Given the description of an element on the screen output the (x, y) to click on. 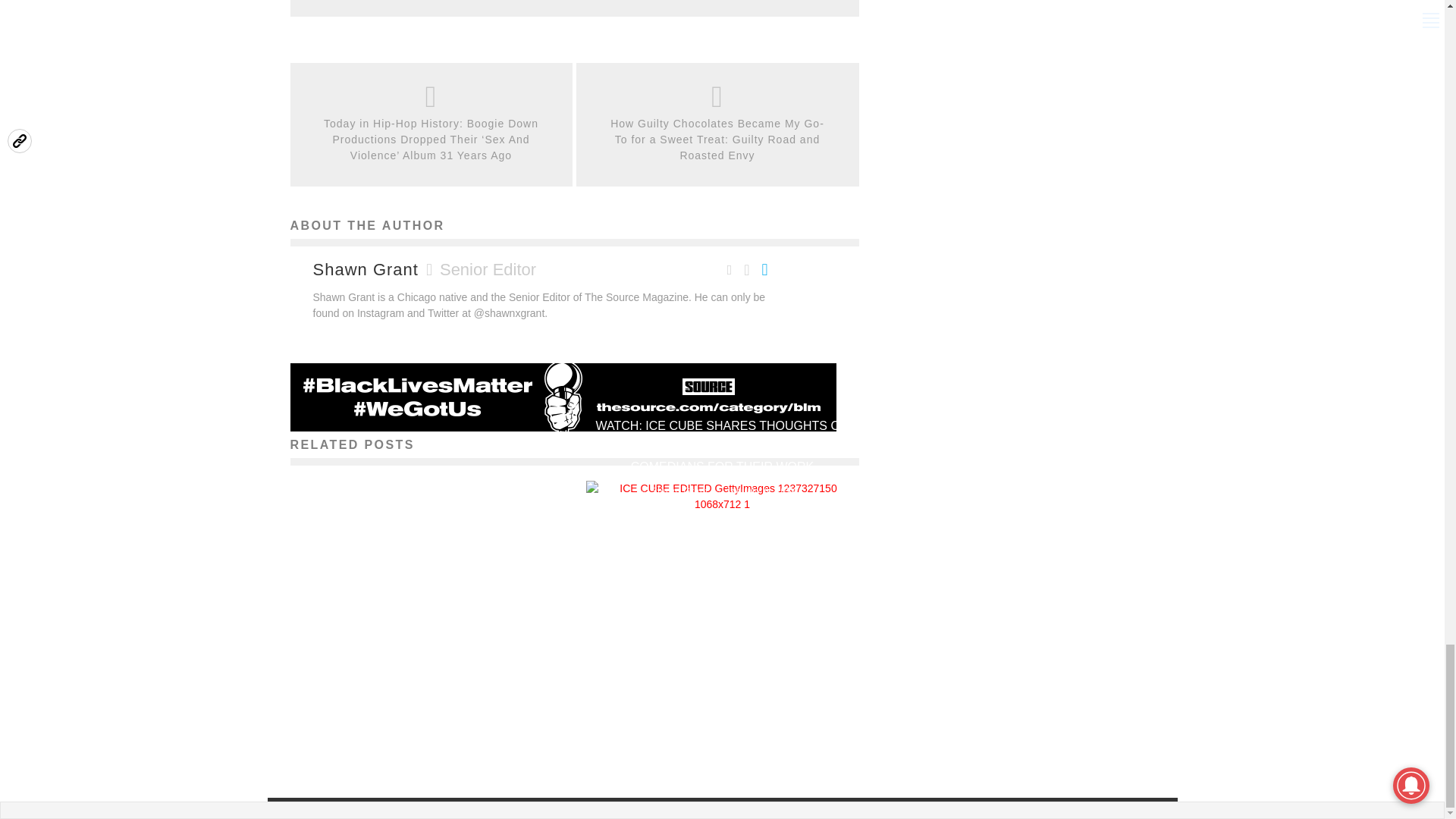
Shawn Grant (365, 269)
Shawn Grant (383, 731)
